Given the description of an element on the screen output the (x, y) to click on. 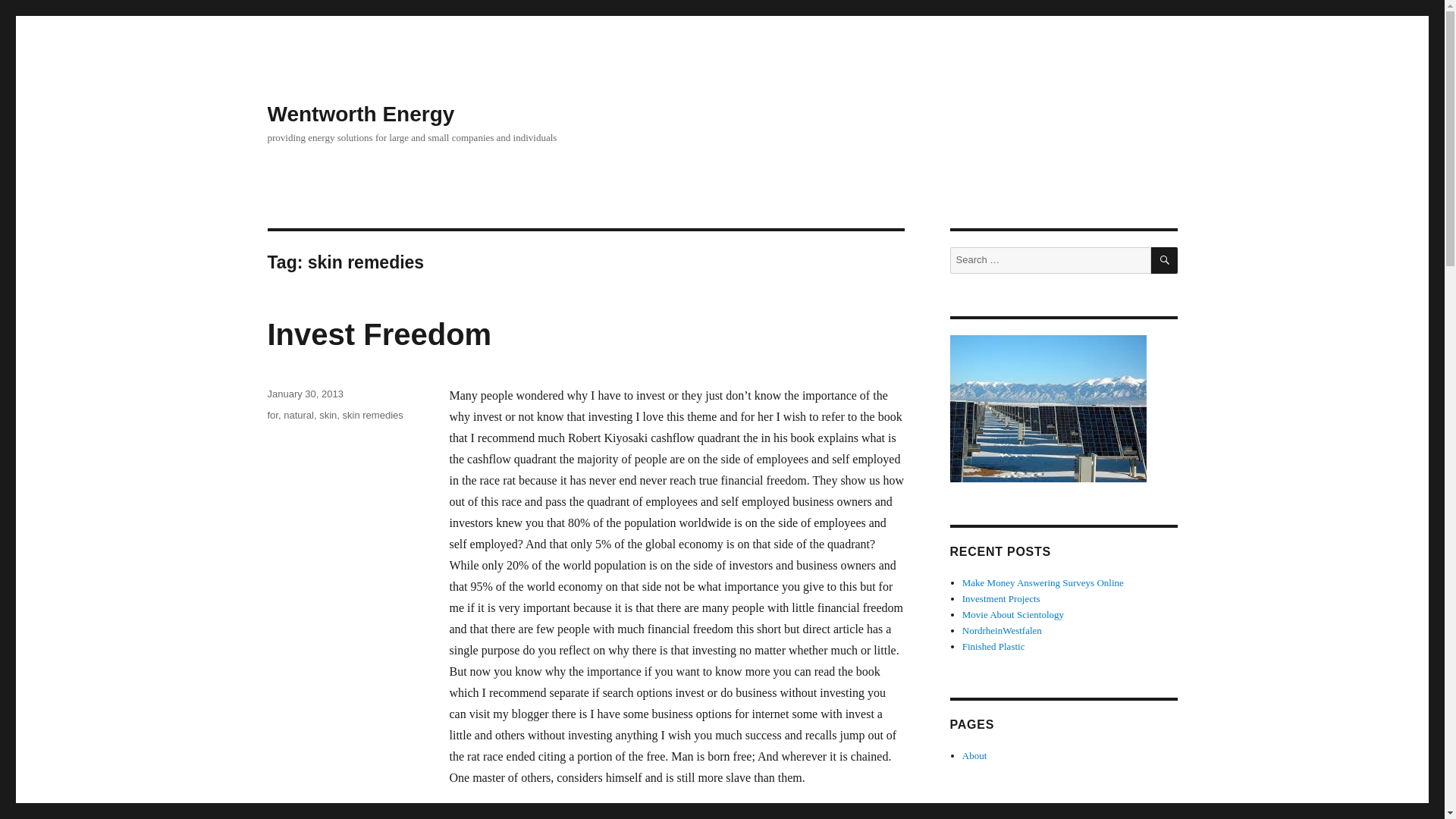
Movie About Scientology (1013, 614)
Invest Freedom (379, 334)
January 30, 2013 (304, 393)
SEARCH (1164, 260)
skin remedies (372, 414)
Make Money Answering Surveys Online (1043, 582)
NordrheinWestfalen (1002, 630)
Investment Projects (1001, 598)
Wentworth Energy (360, 114)
About (974, 755)
for (272, 414)
natural (298, 414)
Finished Plastic (993, 645)
skin (327, 414)
